Given the description of an element on the screen output the (x, y) to click on. 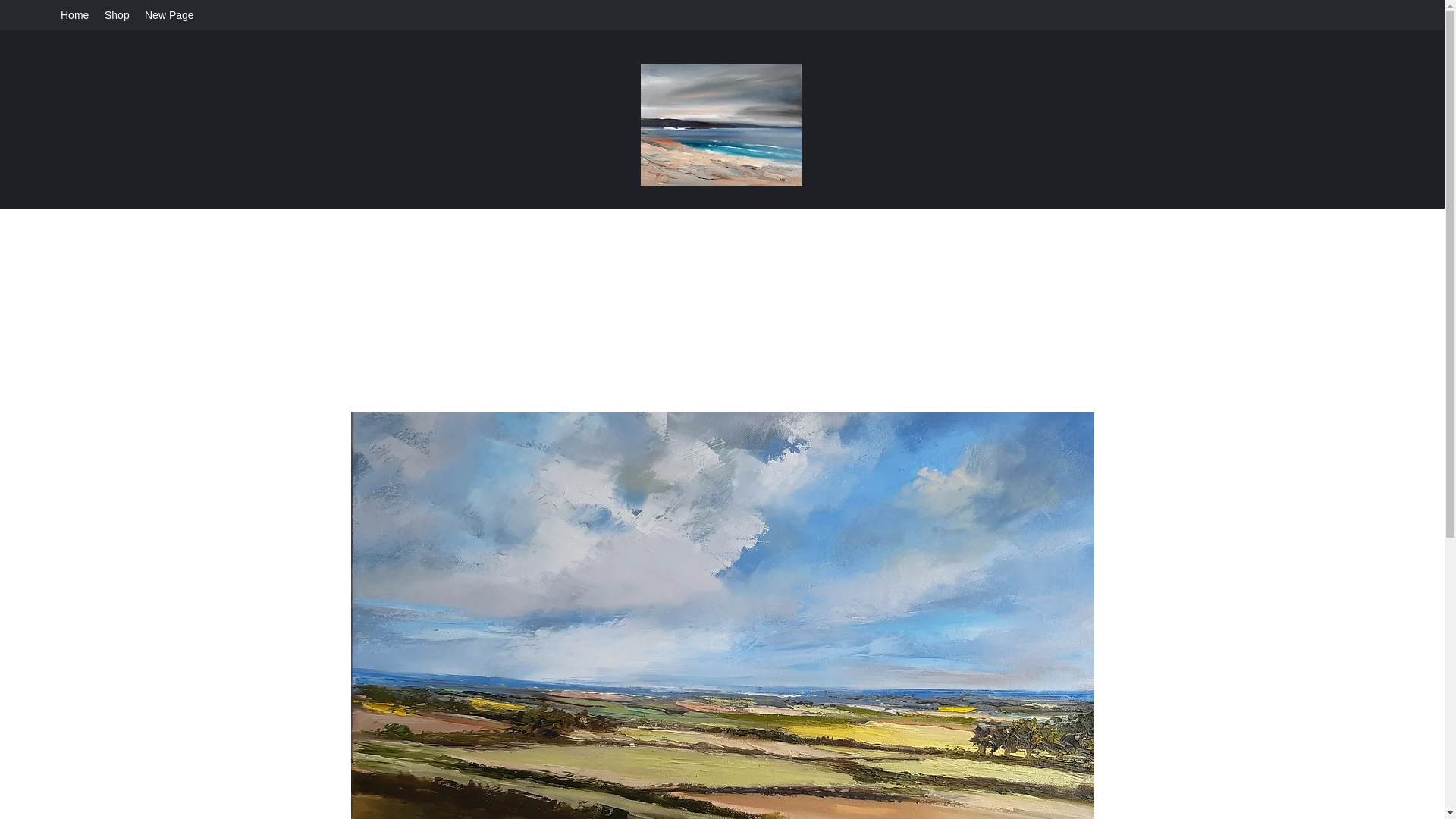
Home (74, 15)
Shop (116, 15)
New Page (169, 15)
